Given the description of an element on the screen output the (x, y) to click on. 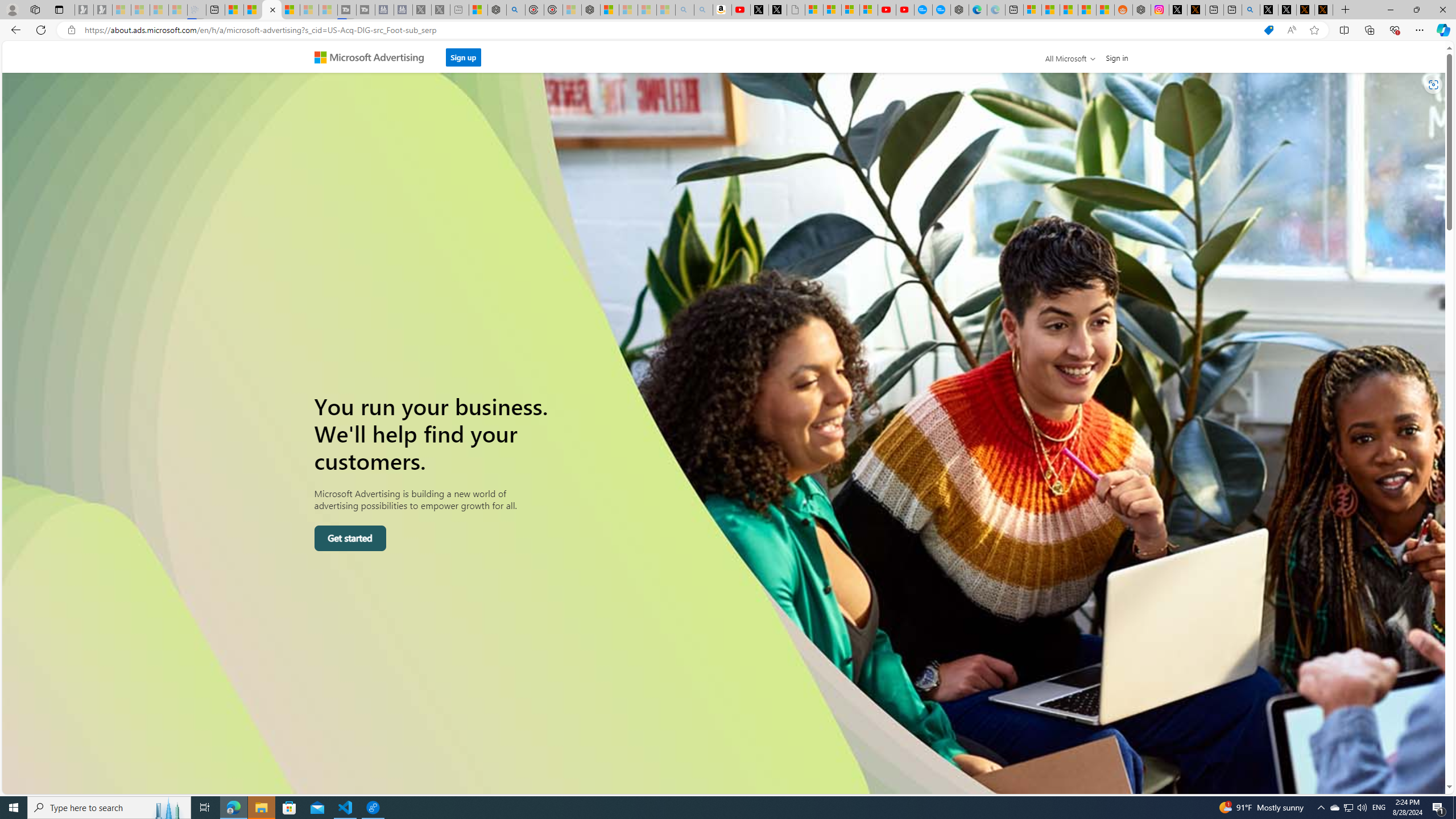
Wildlife - MSN (478, 9)
New tab - Sleeping (459, 9)
Shopping in Microsoft Edge (1268, 29)
Shanghai, China Weather trends | Microsoft Weather (1105, 9)
poe - Search (515, 9)
Nordace - Nordace has arrived Hong Kong (960, 9)
Sign up (462, 53)
